Given the description of an element on the screen output the (x, y) to click on. 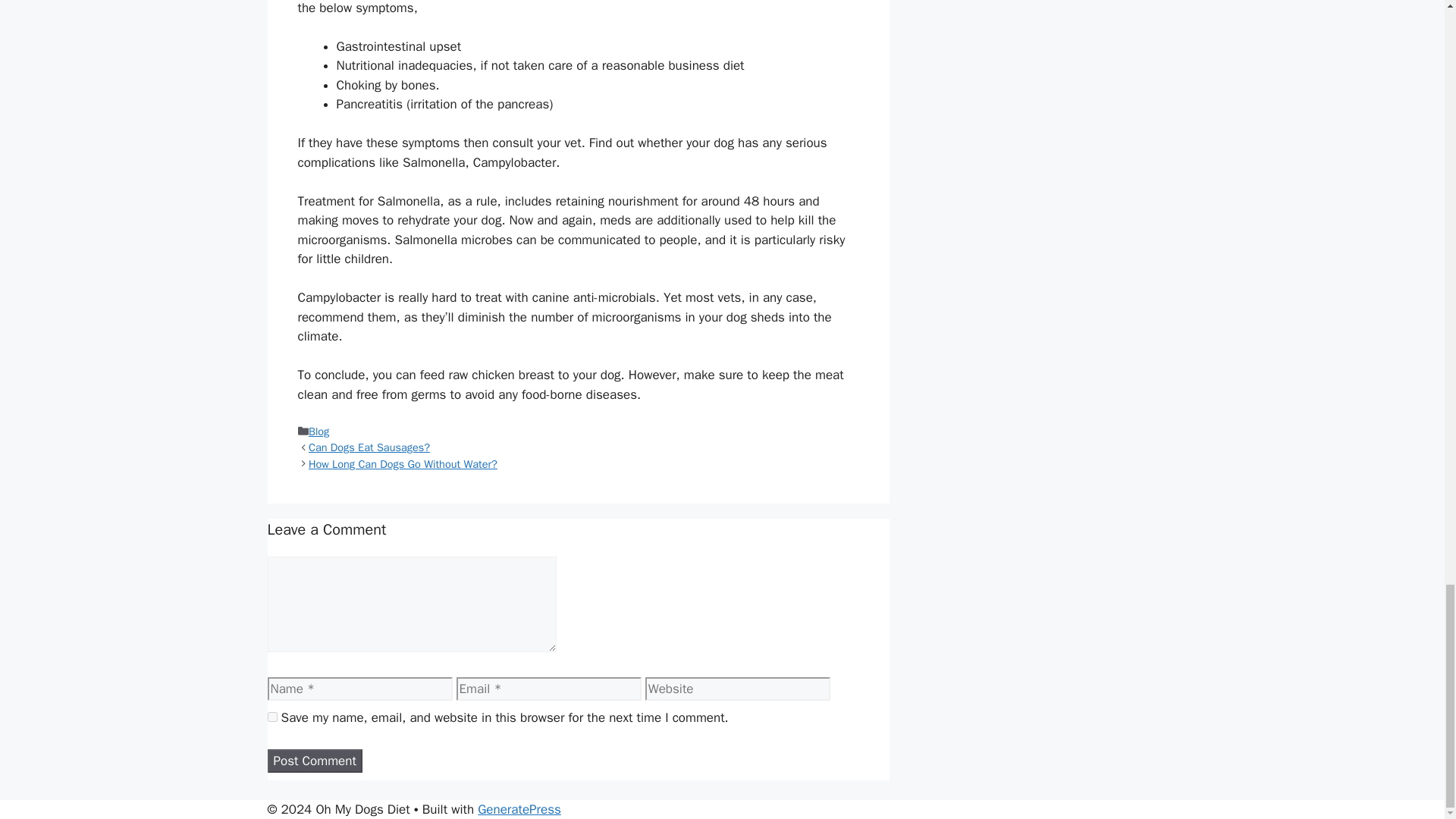
Blog (318, 431)
How Long Can Dogs Go Without Water? (402, 463)
yes (271, 716)
Can Dogs Eat Sausages? (368, 447)
Post Comment (313, 761)
Post Comment (313, 761)
GeneratePress (518, 808)
